Given the description of an element on the screen output the (x, y) to click on. 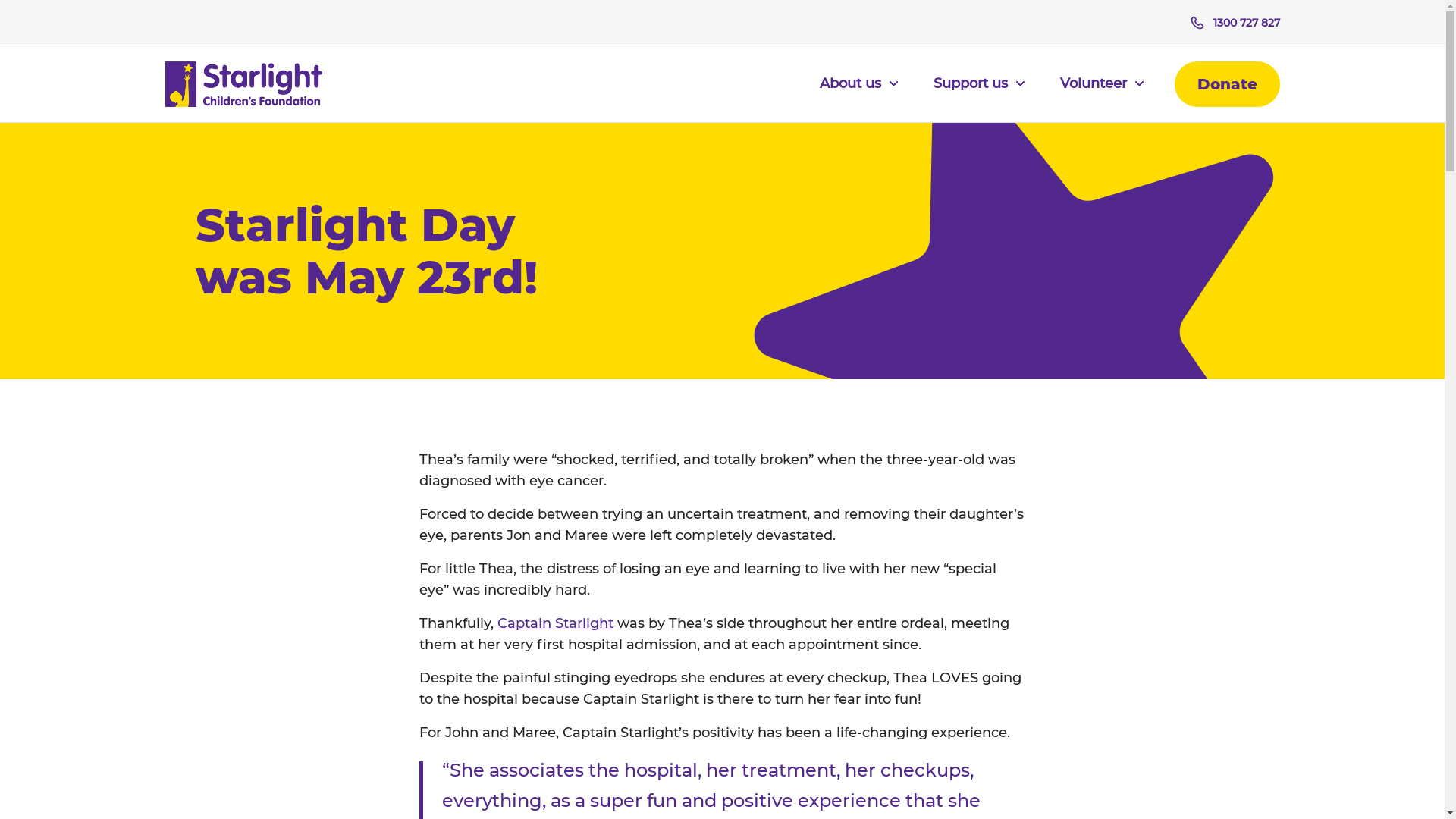
Starlight Element type: hover (243, 83)
Careers at Starlight Element type: text (350, 335)
Our Reconciliation Action Plan Element type: text (350, 304)
Our Stories
Inspiring tales of fun, support and courage Element type: text (1093, 259)
Who we are Element type: text (350, 153)
Starlight in hospital Element type: text (722, 244)
About us Element type: text (858, 91)
Our partners Element type: text (350, 244)
Livewire Element type: text (722, 274)
Wishgranting Element type: text (722, 304)
Support us Element type: text (978, 91)
1300 727 827 Element type: text (1235, 22)
Safeguarding children & young people Element type: text (722, 365)
Donate Element type: text (1226, 83)
Our performance Element type: text (350, 274)
Our mission Element type: text (350, 183)
Our people Element type: text (350, 213)
Captain Starlight Element type: text (722, 213)
Our impact Element type: text (722, 183)
Captain Starlight Element type: text (555, 623)
Healthier Futures Initiative Element type: text (722, 335)
What we do Element type: text (722, 153)
Volunteer Element type: text (1102, 91)
